Given the description of an element on the screen output the (x, y) to click on. 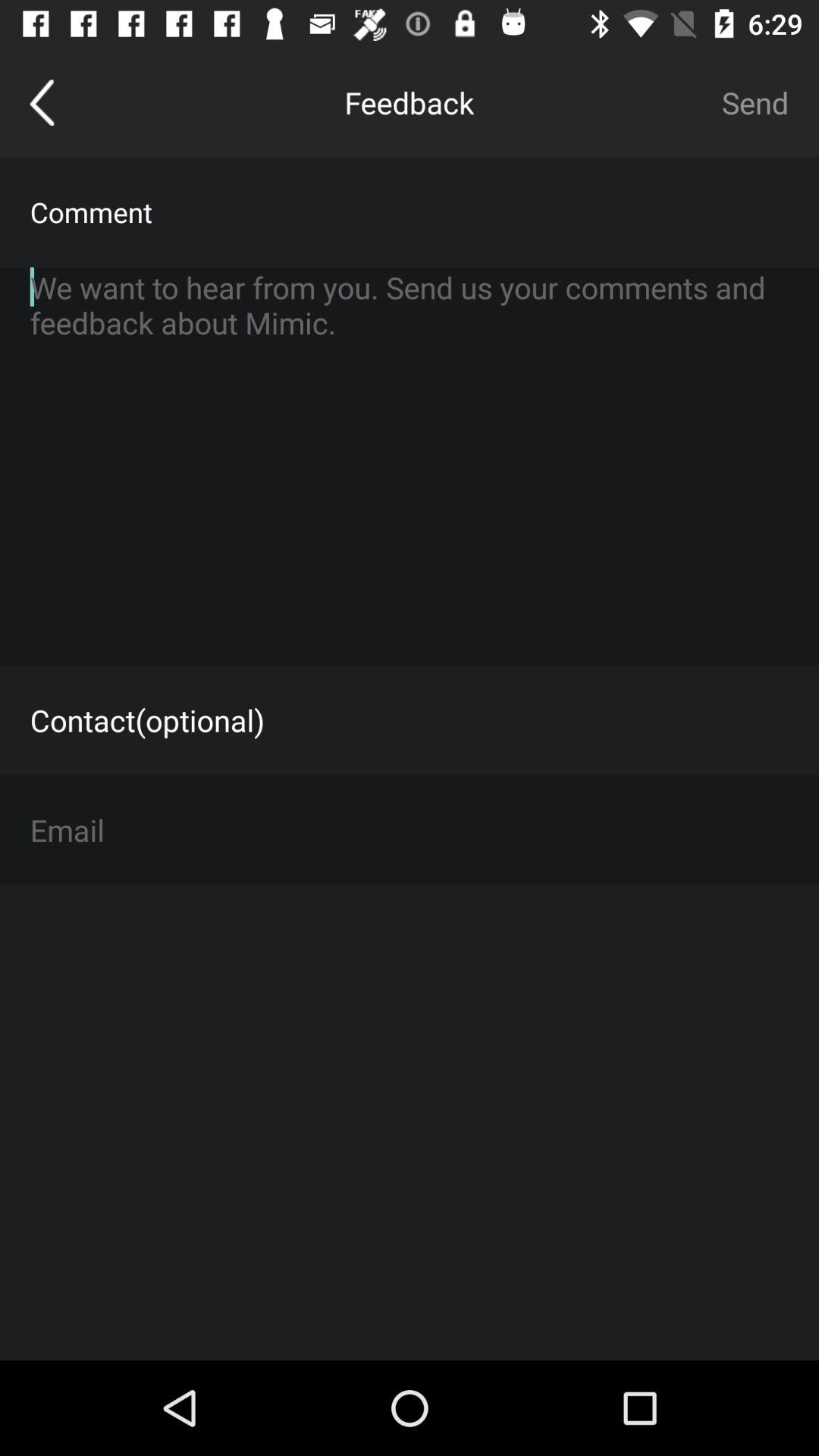
launch the item next to feedback (42, 102)
